Given the description of an element on the screen output the (x, y) to click on. 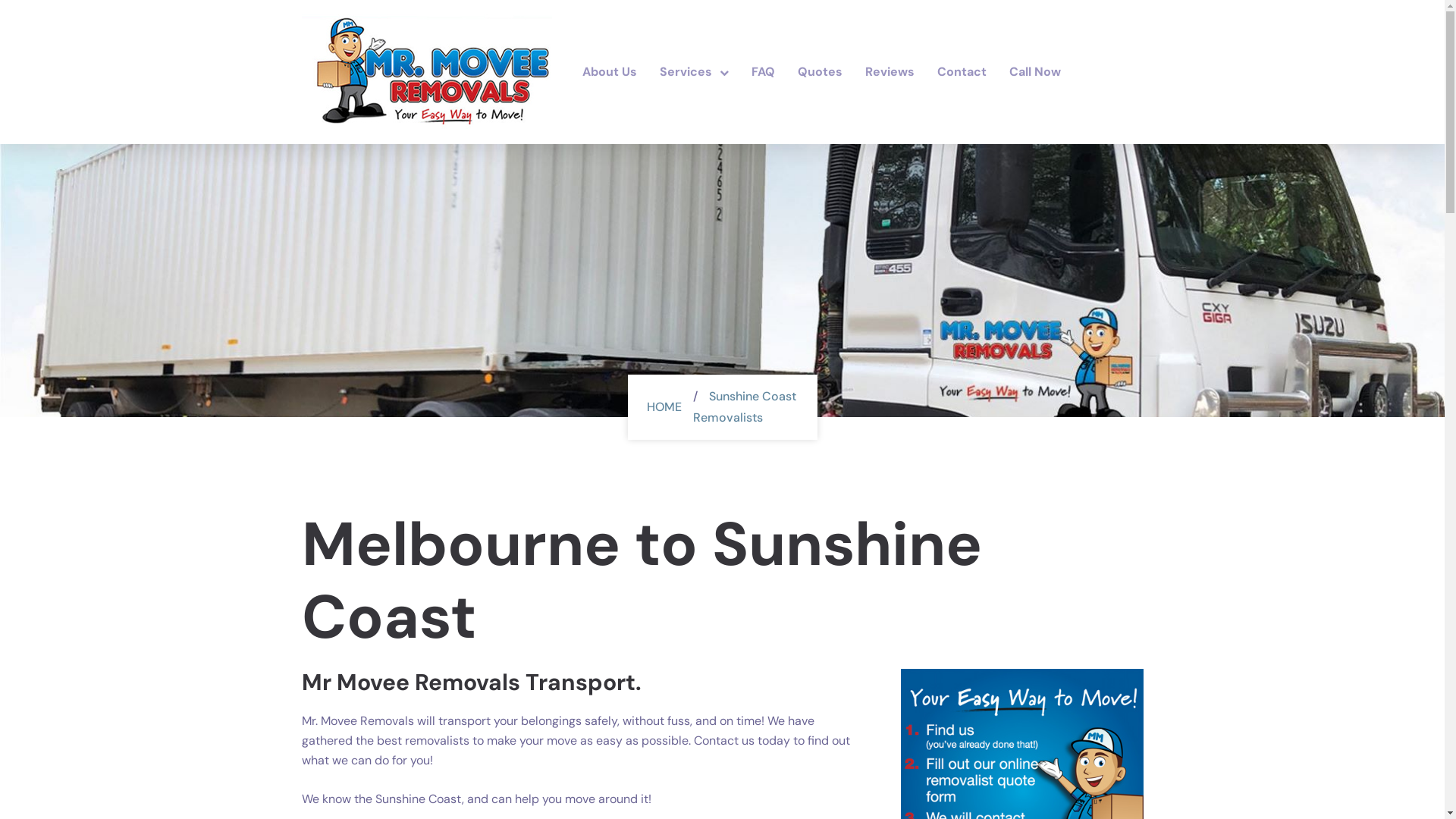
Call Now Element type: text (1028, 70)
Services Element type: text (693, 71)
Quotes Element type: text (819, 70)
Reviews Element type: text (889, 70)
Contact Element type: text (961, 70)
About Us Element type: text (615, 70)
HOME Element type: text (663, 406)
FAQ Element type: text (763, 70)
